Given the description of an element on the screen output the (x, y) to click on. 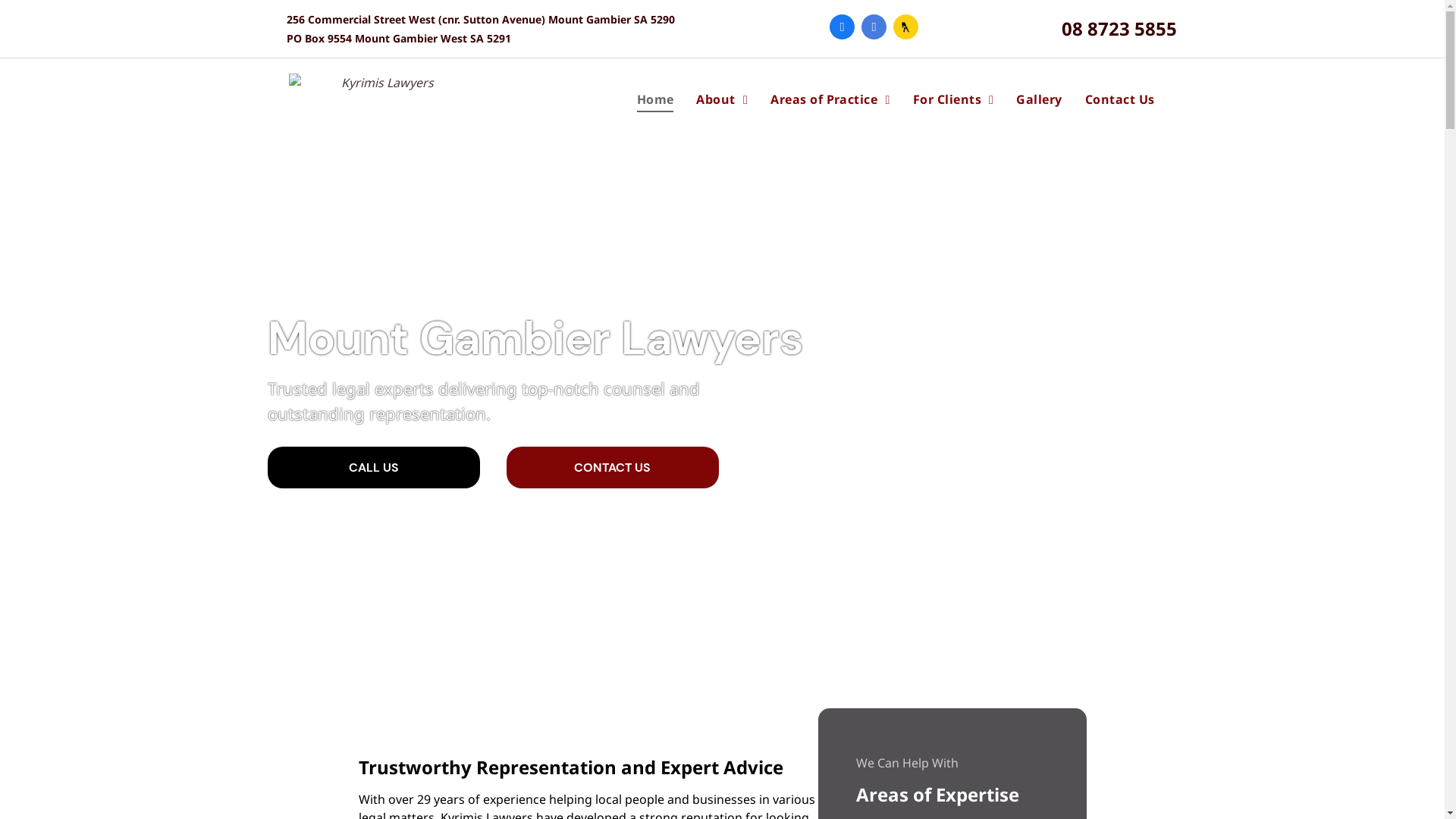
08 8723 5855 Element type: text (1118, 27)
Kyrimis Lawyers Element type: hover (380, 97)
Gallery Element type: text (1038, 99)
CALL US Element type: text (372, 467)
CONTACT US Element type: text (612, 467)
Areas of Practice Element type: text (830, 99)
About Element type: text (721, 99)
Contact Us Element type: text (1119, 99)
For Clients Element type: text (953, 99)
PO Box 9554 Mount Gambier West SA 5291 Element type: text (398, 38)
Home Element type: text (655, 99)
